Given the description of an element on the screen output the (x, y) to click on. 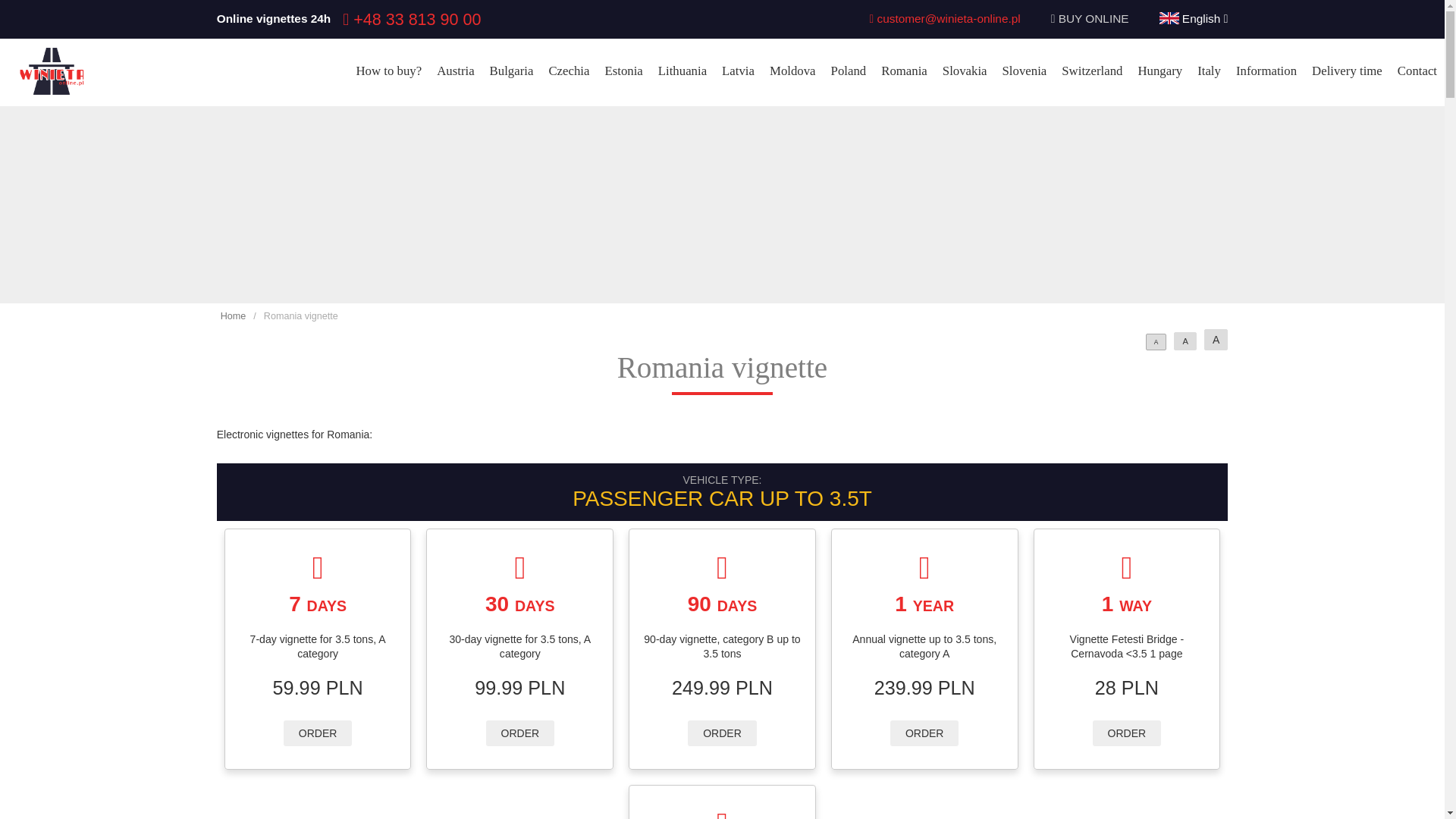
Home (233, 316)
Bulgaria (511, 70)
BUY ONLINE (1093, 18)
Switzerland (1091, 70)
Slovenia (1024, 70)
Lithuania (682, 70)
A (1215, 339)
Slovakia (964, 70)
Moldova (792, 70)
Poland (849, 70)
Czechia (568, 70)
Delivery time (1347, 70)
Latvia (737, 70)
Romania (903, 70)
